Given the description of an element on the screen output the (x, y) to click on. 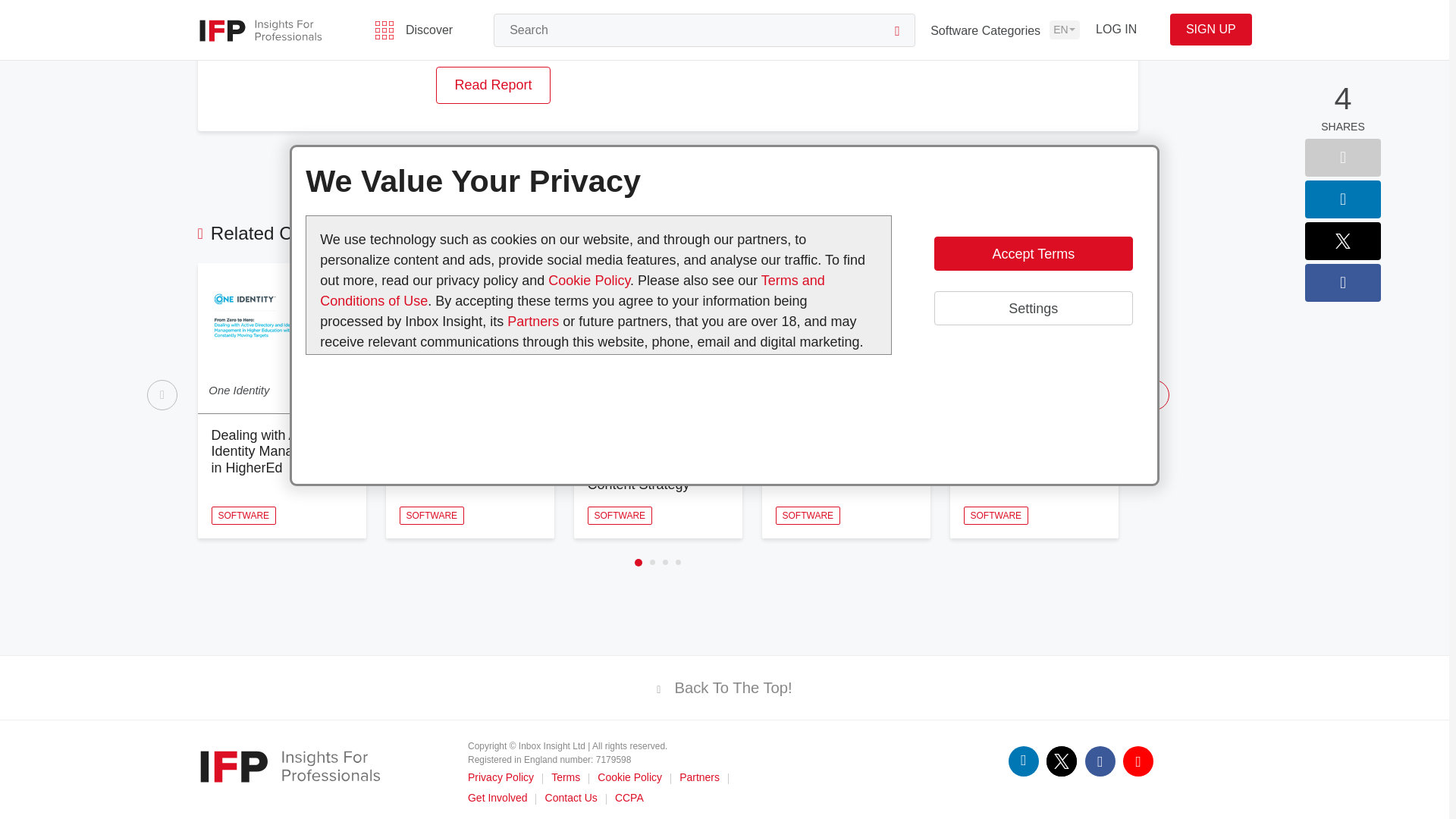
privacy policy (588, 6)
9 Steps to Owning Your Code (1018, 443)
Best-in-Class SaaS Performance (833, 443)
Fast Track Your Automation Journey with SaaS (458, 451)
Dealing with AD and Identity Management in HigherEd (274, 451)
